Given the description of an element on the screen output the (x, y) to click on. 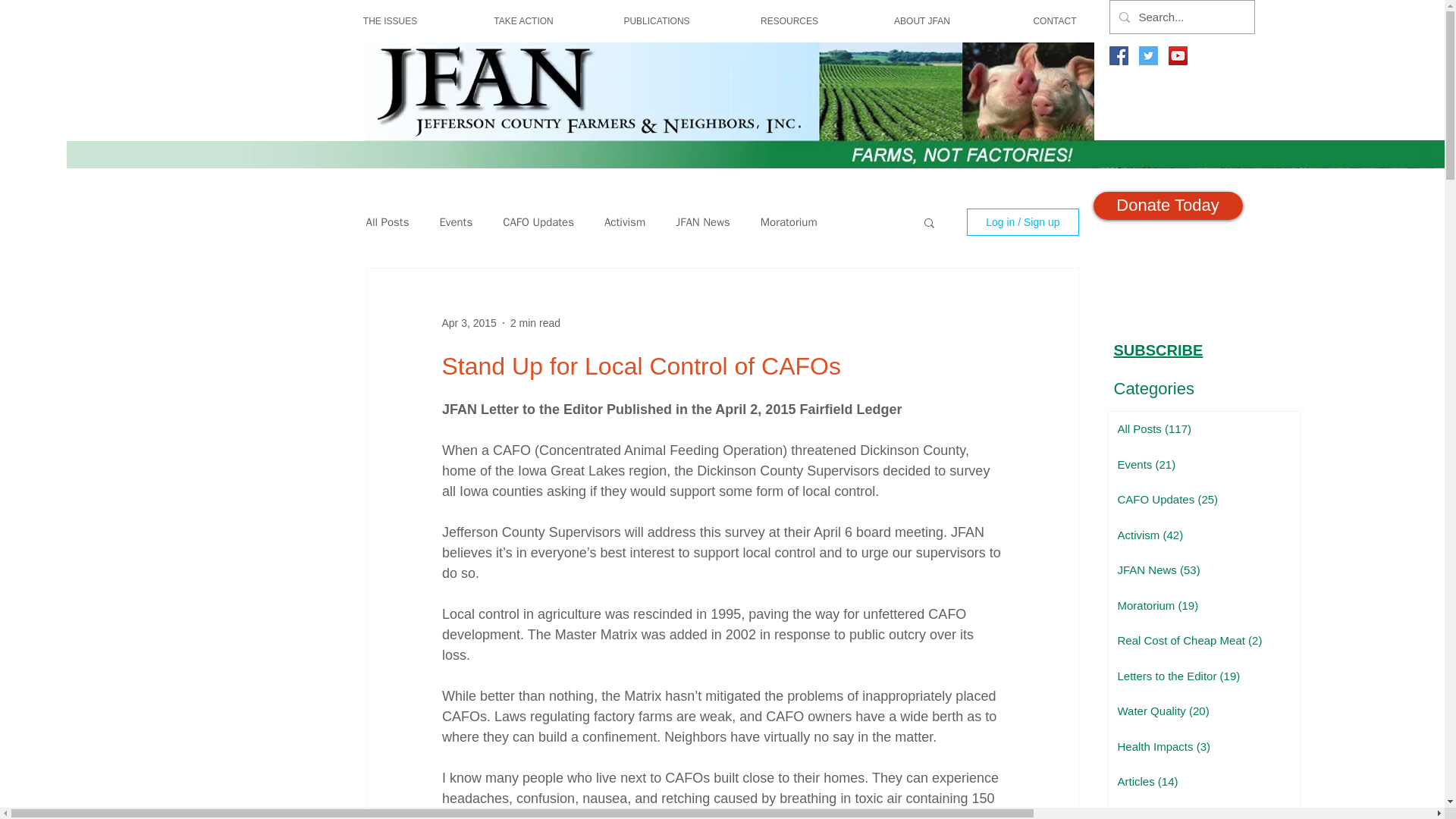
THE ISSUES (390, 21)
TAKE ACTION (523, 21)
ABOUT JFAN (922, 21)
2 min read (535, 322)
Apr 3, 2015 (468, 322)
